Given the description of an element on the screen output the (x, y) to click on. 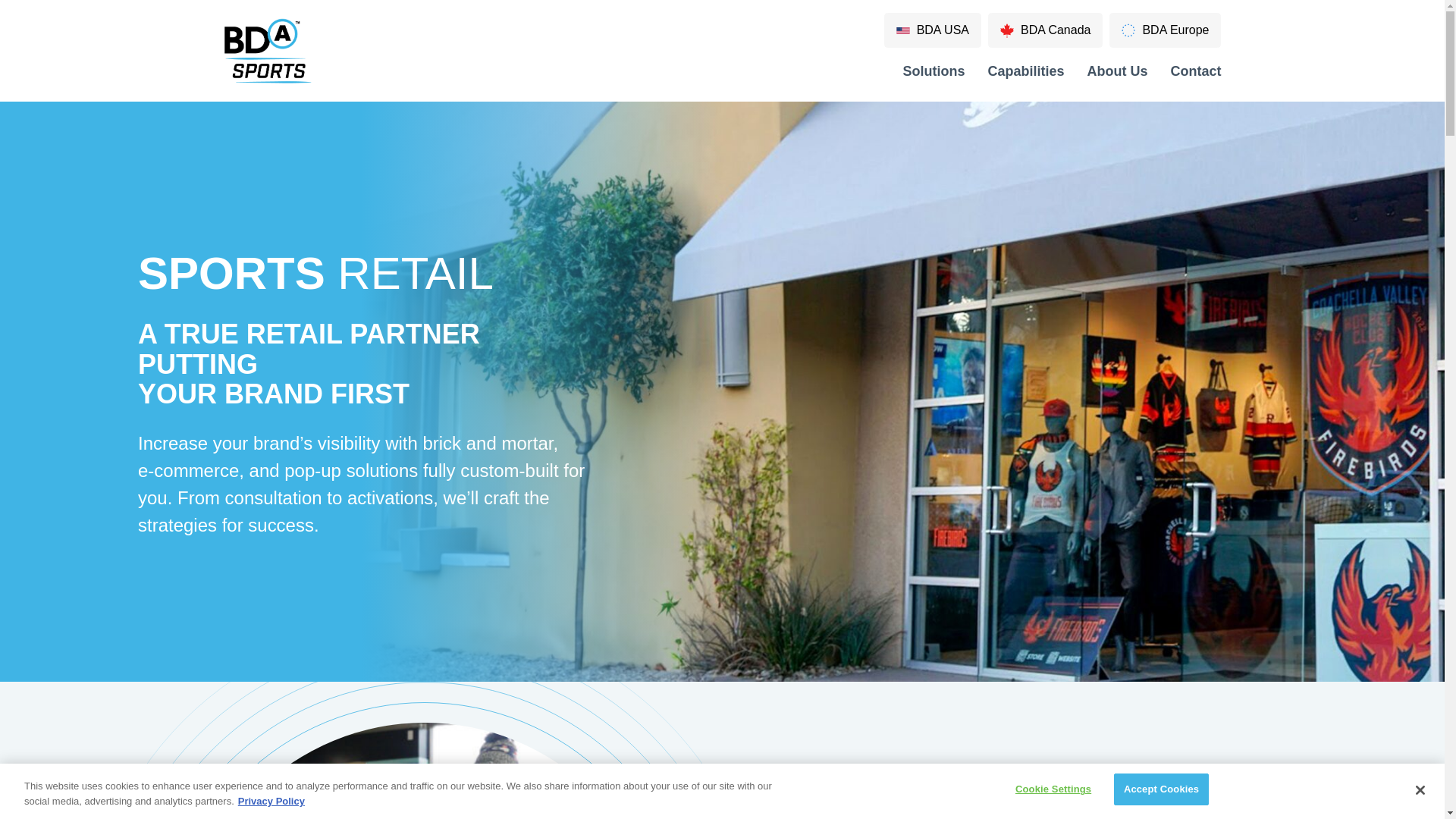
About Us (1116, 71)
Solutions (933, 71)
Contact (1189, 71)
BDA Europe (1165, 30)
BDA USA (932, 30)
BDA Canada (1045, 30)
Capabilities (1025, 71)
